Given the description of an element on the screen output the (x, y) to click on. 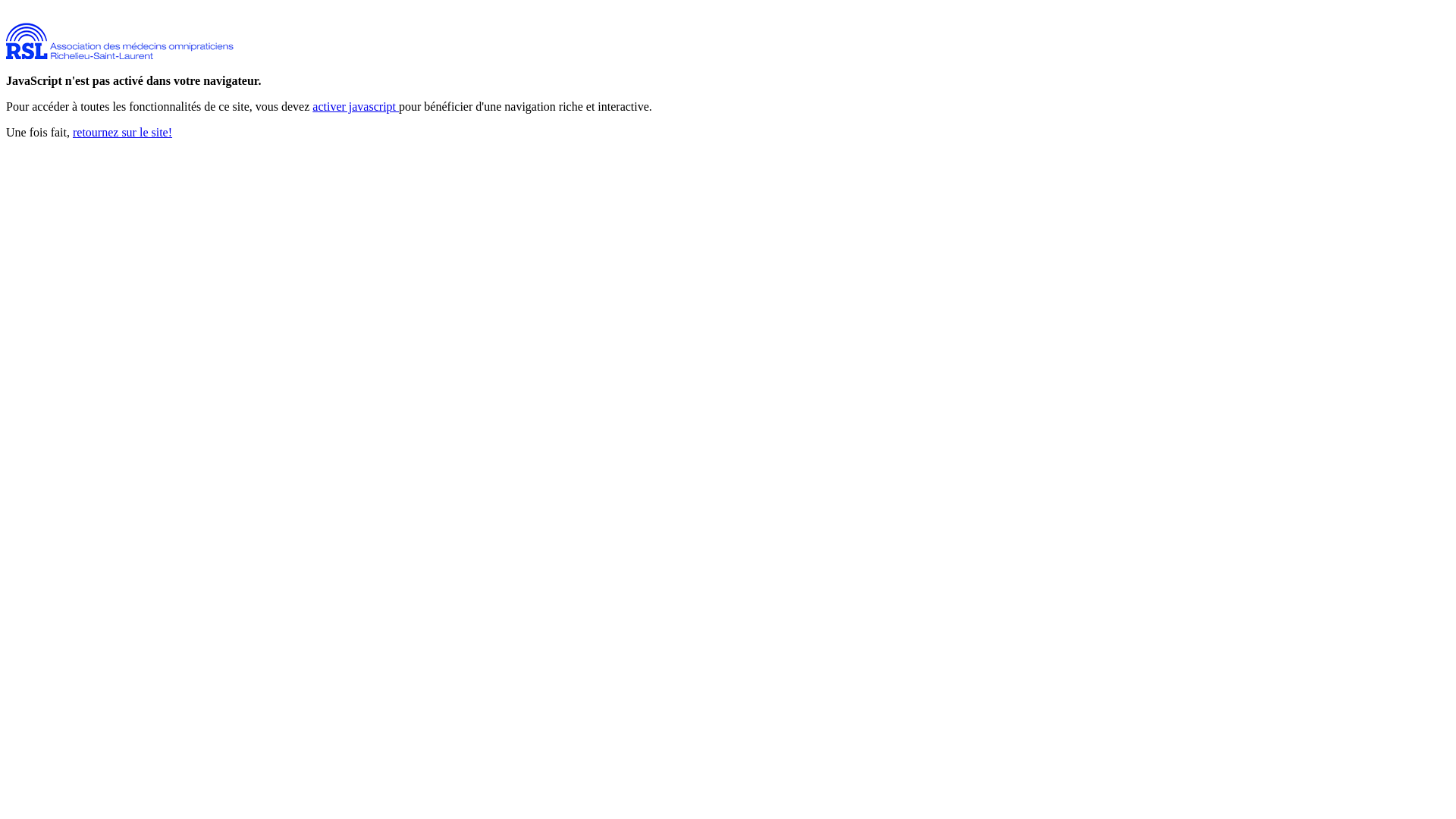
activer javascript Element type: text (355, 106)
retournez sur le site! Element type: text (122, 131)
